Given the description of an element on the screen output the (x, y) to click on. 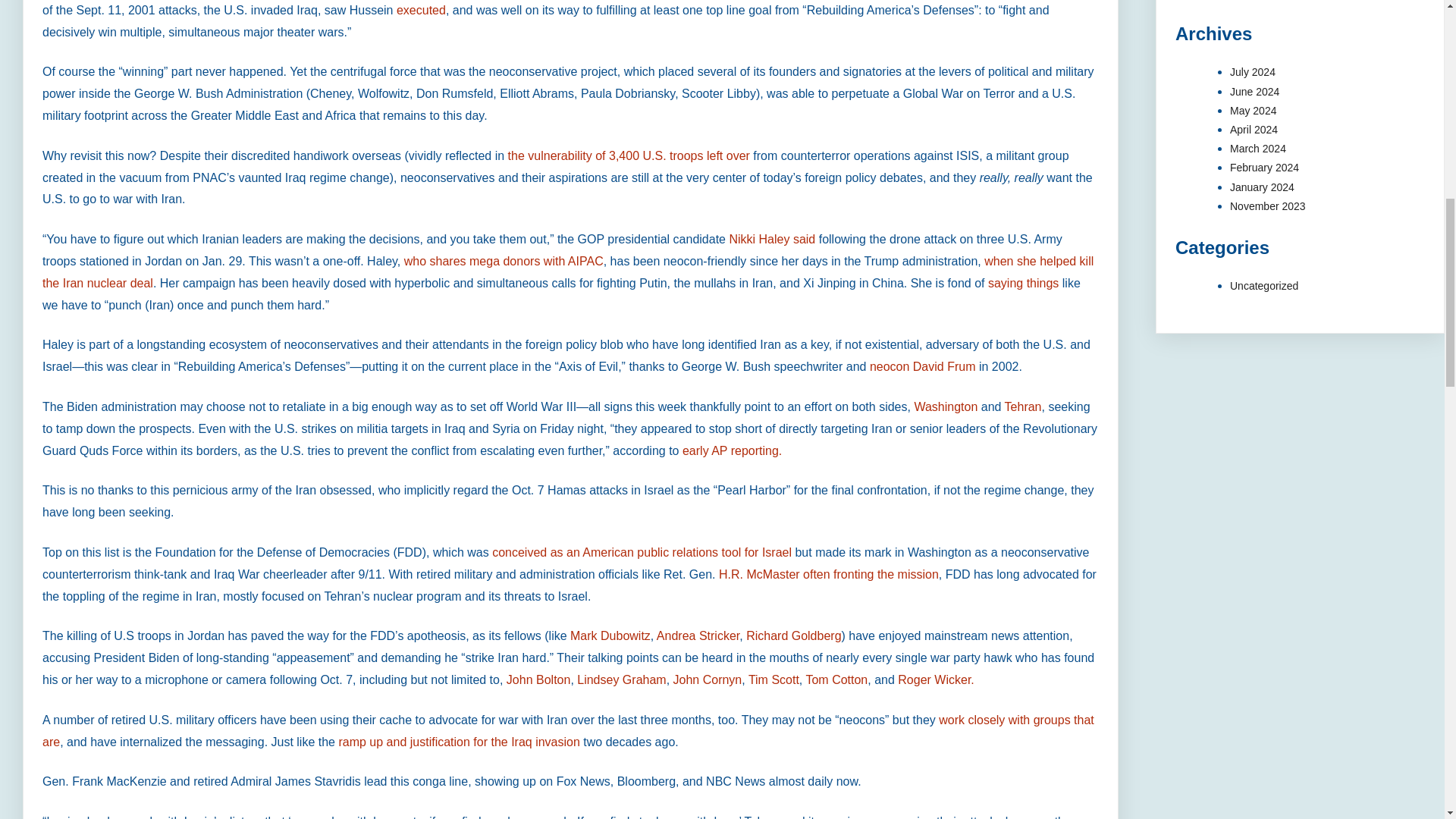
executed (420, 10)
Tehran (1023, 406)
Lindsey Graham (620, 679)
conceived as an American public relations tool for Israel (642, 552)
John Bolton (538, 679)
neocon David Frum (922, 366)
saying things (1023, 282)
who shares mega donors with AIPAC (504, 260)
Andrea Stricker (697, 635)
H.R. McMaster often fronting the mission (829, 574)
Washington (945, 406)
Mark Dubowitz (610, 635)
Tom Cotton (836, 679)
ramp up and justification for the Iraq invasion (460, 741)
John Cornyn (707, 679)
